Given the description of an element on the screen output the (x, y) to click on. 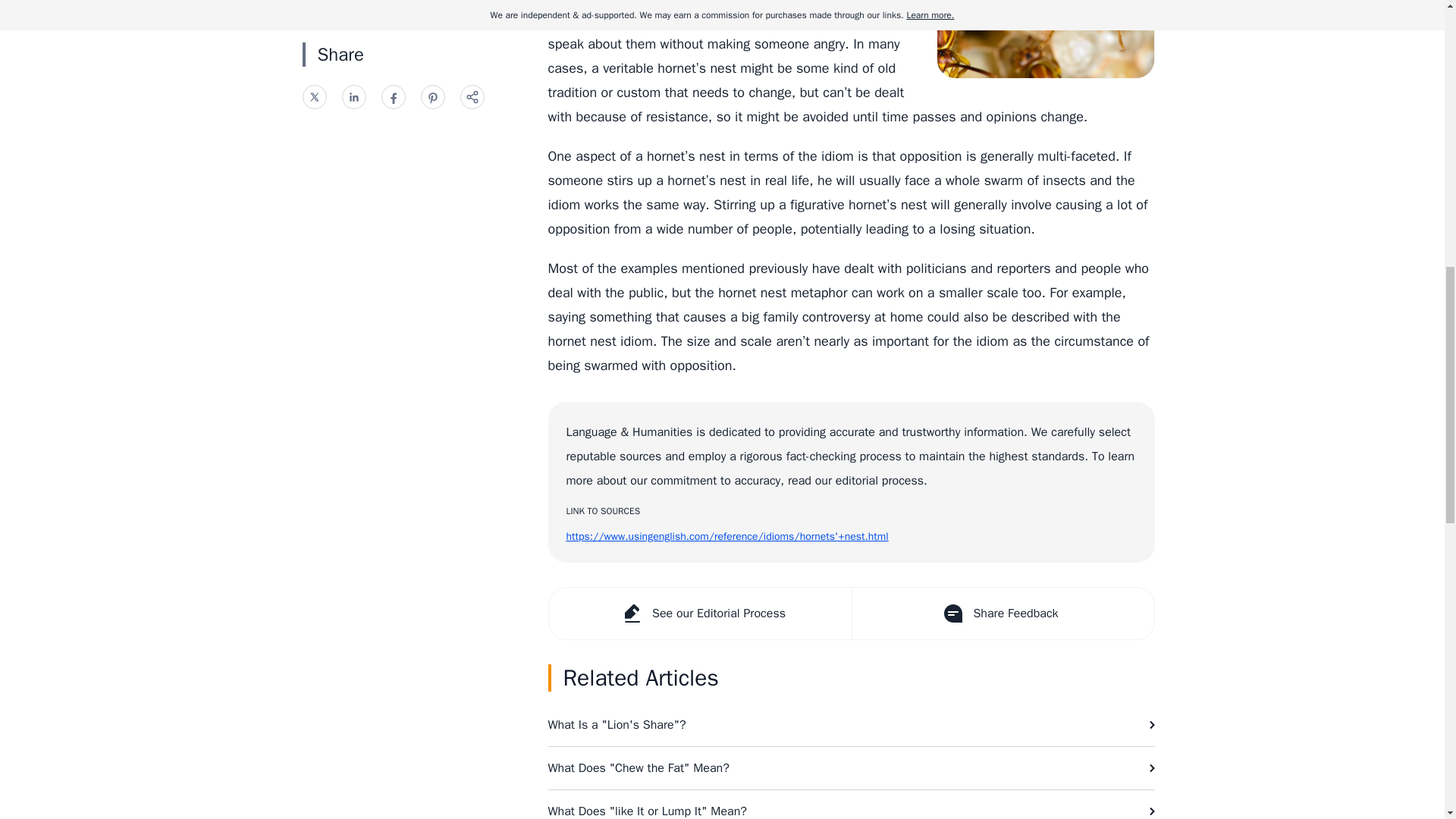
See our Editorial Process (699, 613)
What Does "Chew the Fat" Mean? (850, 767)
What Is a "Lion's Share"? (850, 724)
Share Feedback (1001, 613)
